Given the description of an element on the screen output the (x, y) to click on. 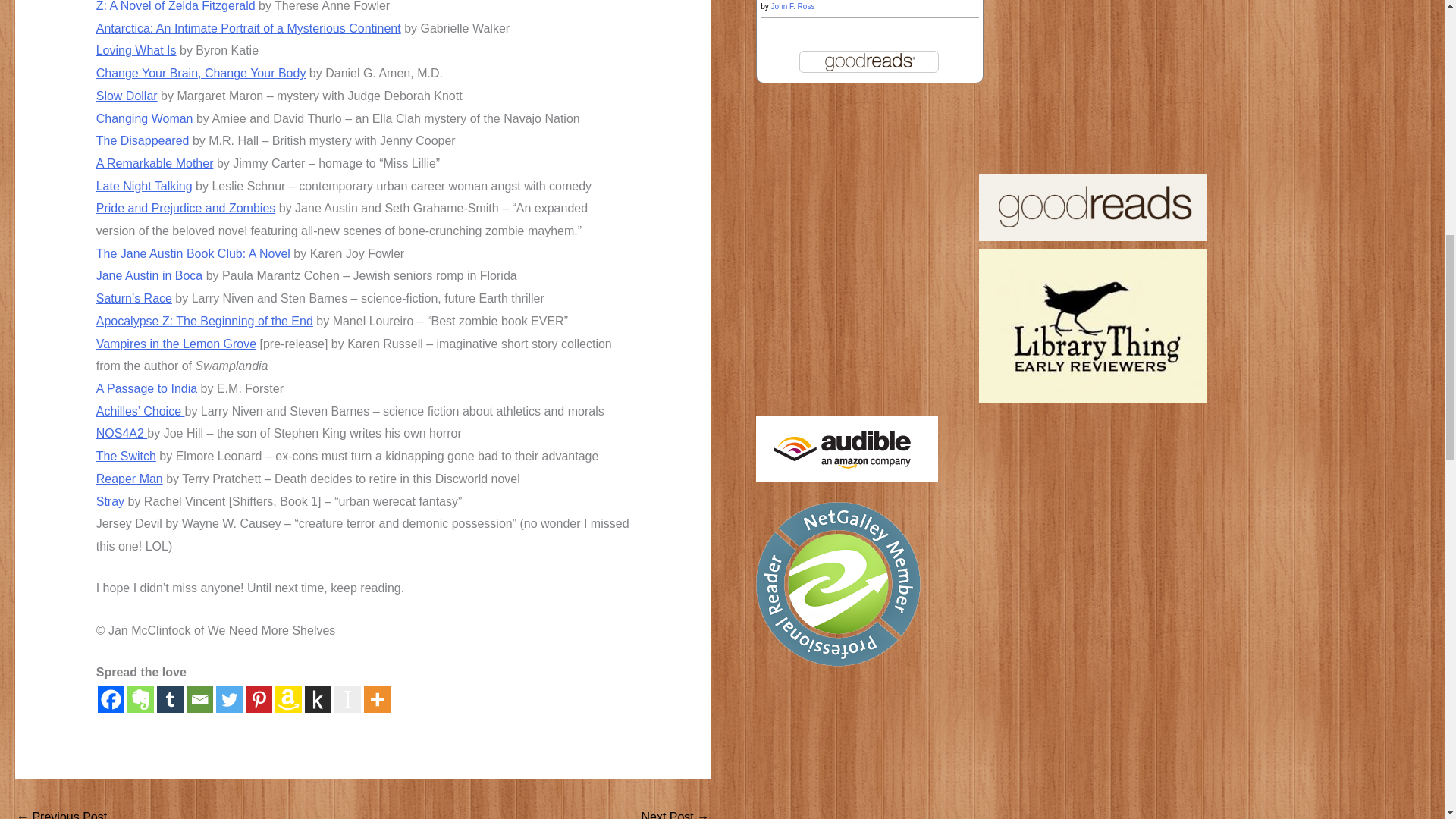
Ebooks: Quality and Price (674, 811)
Amazon Wish List (288, 699)
Pinterest (259, 699)
Apocalypse Z: The Beginning of the End (204, 320)
Loving What Is (136, 50)
Slow Dollar (126, 95)
Evernote (141, 699)
Z: A Novel of Zelda Fitzgerald (176, 6)
Changing Woman (146, 118)
The Jane Austin Book Club: A Novel (192, 253)
Facebook (110, 699)
Email (199, 699)
Jane Austin in Boca (149, 275)
Change Your Brain, Change Your Body (200, 72)
Antarctica: An Intimate Portrait of a Mysterious Continent (248, 28)
